Given the description of an element on the screen output the (x, y) to click on. 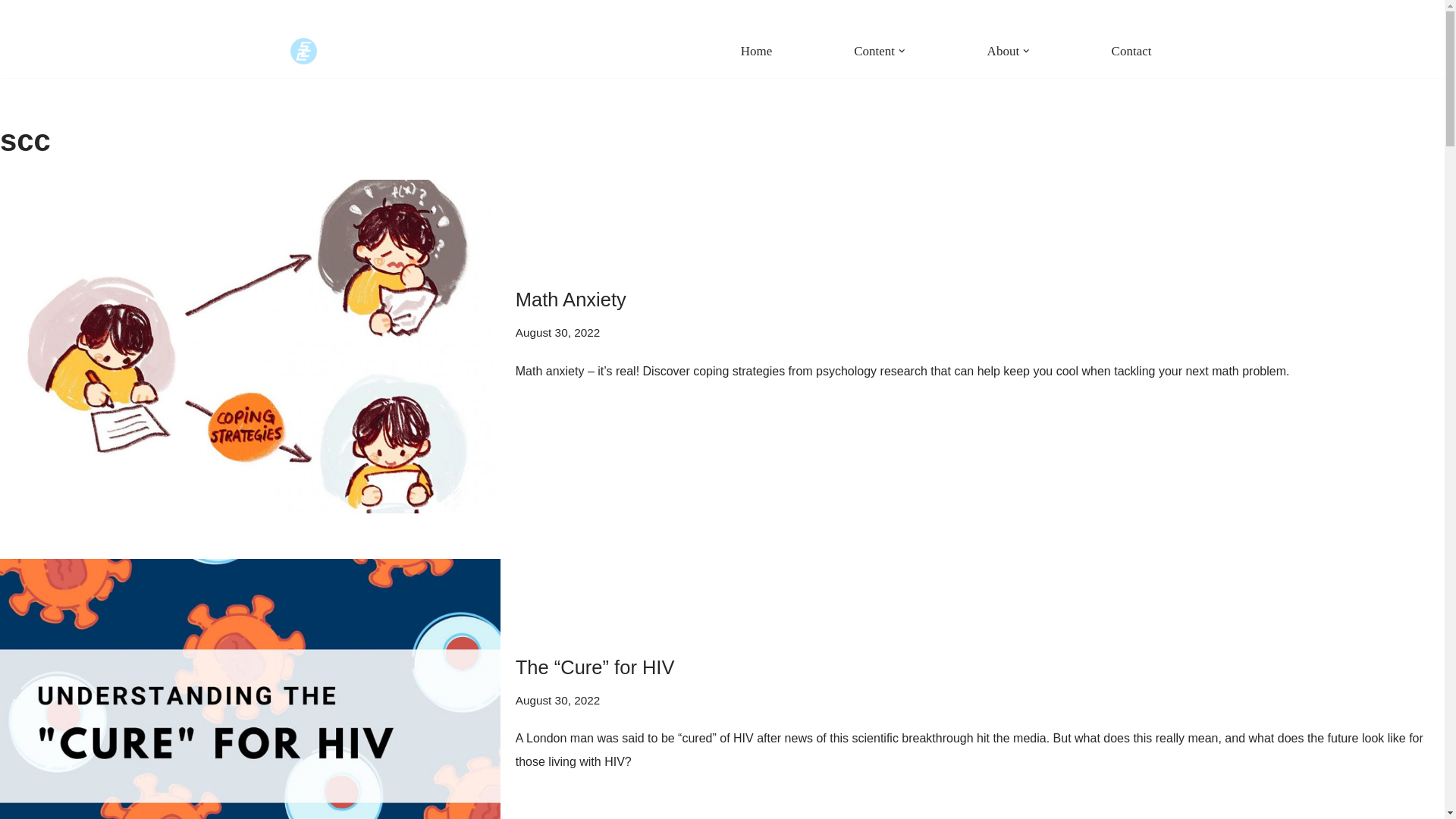
Skip to content (11, 55)
Home (757, 50)
Contact (1131, 50)
Math Anxiety (570, 299)
Content (874, 50)
About (1003, 50)
